Given the description of an element on the screen output the (x, y) to click on. 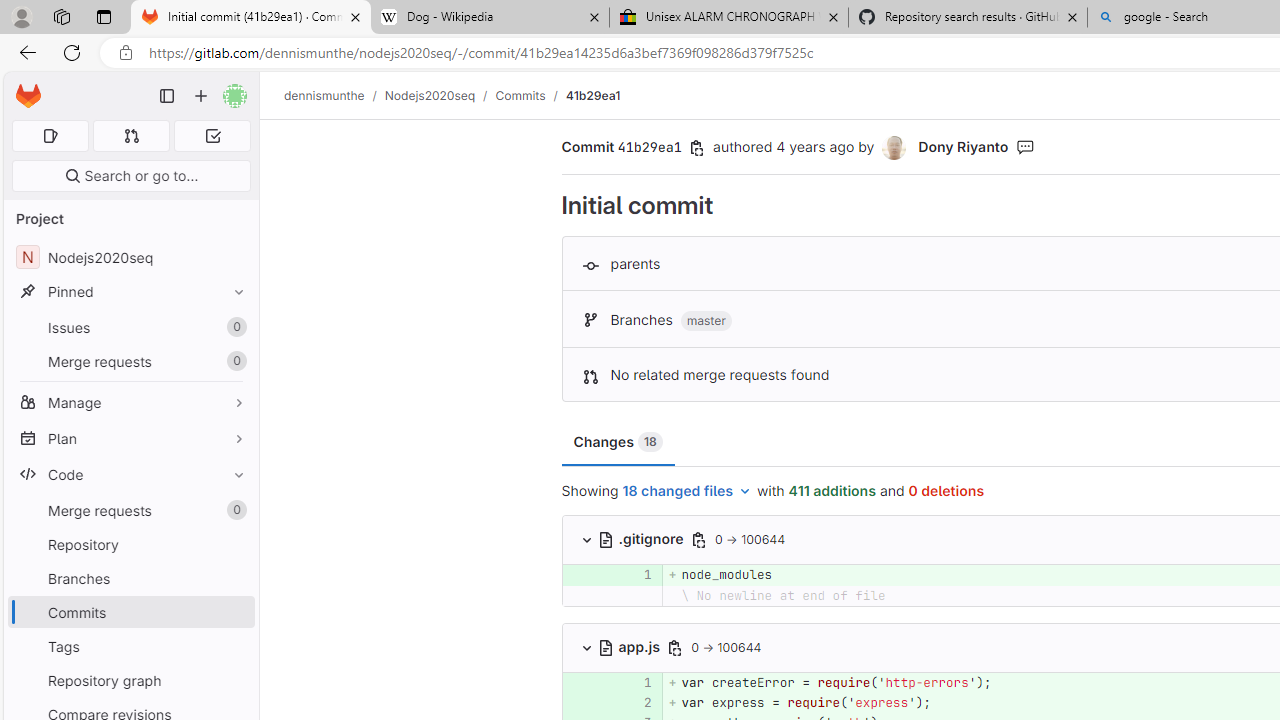
Create new... (201, 96)
Class: s16 chevron-down (586, 647)
master (705, 321)
Primary navigation sidebar (167, 96)
Plan (130, 438)
To-Do list 0 (212, 136)
Changes 18 (617, 442)
Pin Repository graph (234, 680)
Plan (130, 438)
